Given the description of an element on the screen output the (x, y) to click on. 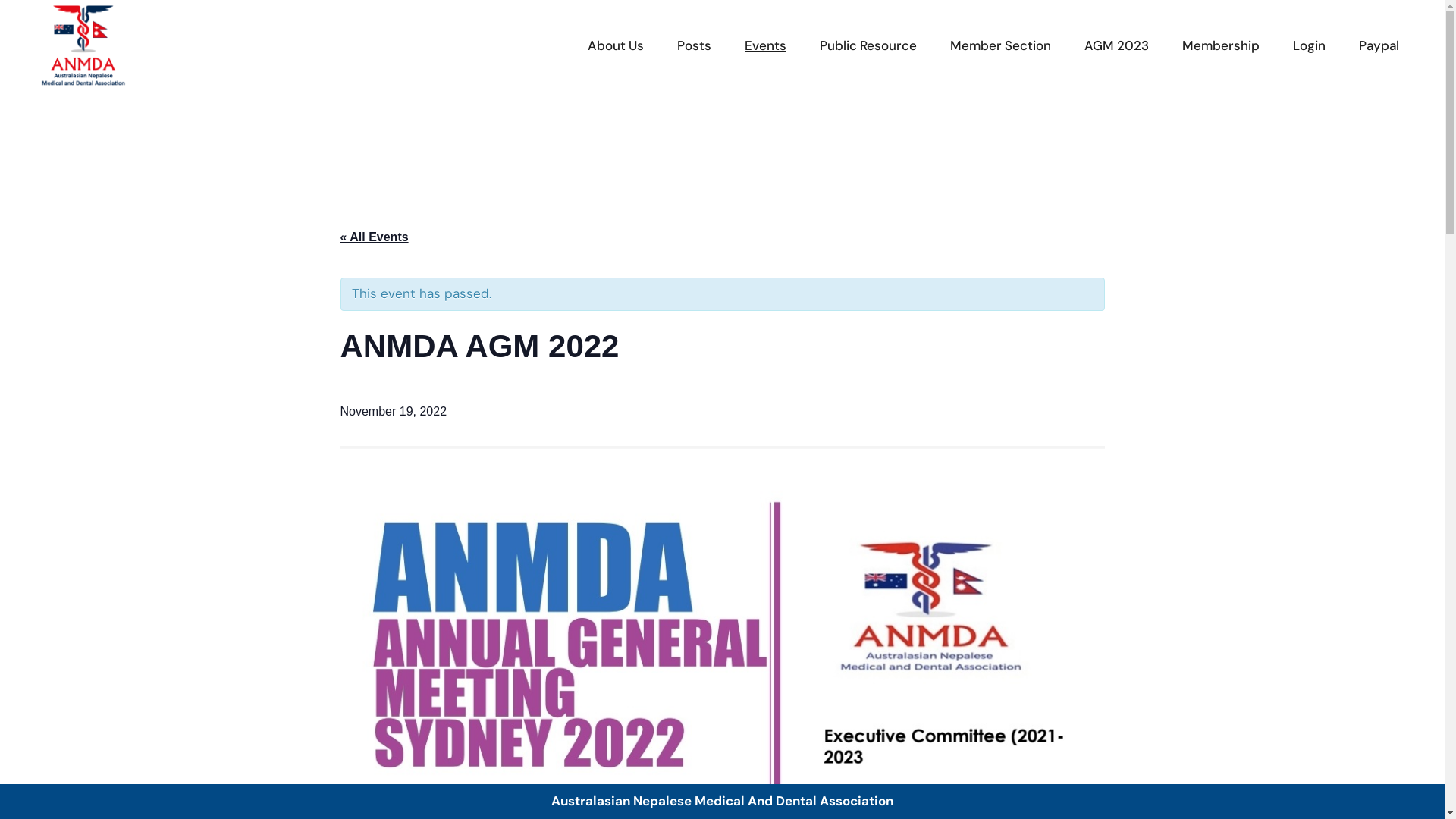
Login Element type: text (1309, 45)
Member Section Element type: text (1000, 45)
Public Resource Element type: text (868, 45)
About Us Element type: text (615, 45)
Paypal Element type: text (1378, 45)
Events Element type: text (765, 45)
AGM 2023 Element type: text (1116, 45)
Posts Element type: text (693, 45)
Membership Element type: text (1220, 45)
